Given the description of an element on the screen output the (x, y) to click on. 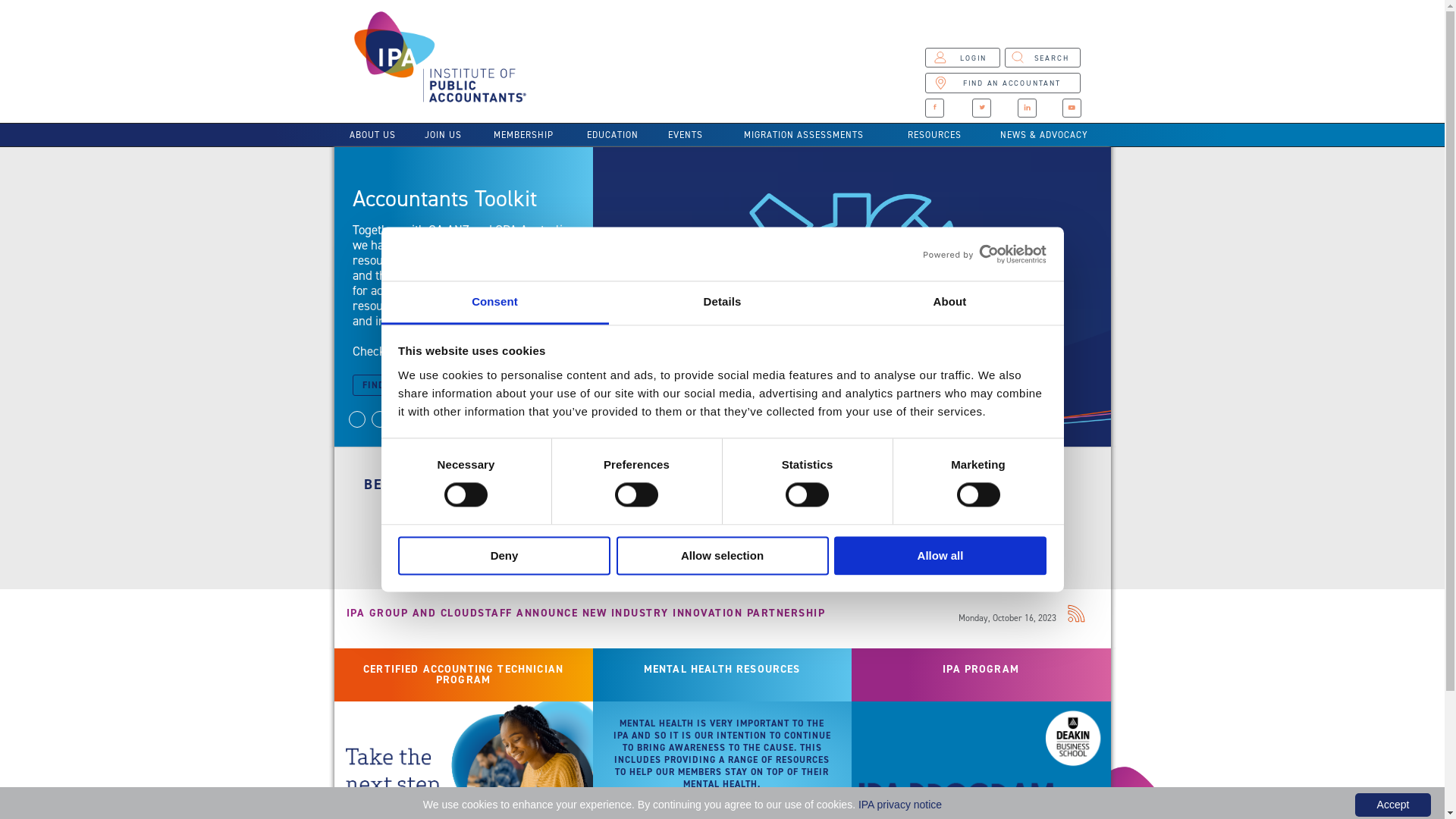
APPLY NOW Element type: text (431, 534)
MIGRATION ASSESSMENTS Element type: text (803, 134)
NEWS & ADVOCACY Element type: text (1044, 134)
JOIN US Element type: text (443, 134)
LINKDIN Element type: text (1026, 107)
ICON CREATED WITH SKETCH. Element type: text (981, 107)
Deny Element type: text (504, 555)
EDUCATION Element type: text (613, 134)
FACEBOOK ICON CREATED WITH SKETCH. Element type: text (934, 107)
Details Element type: text (721, 302)
ICON : USER COPYCREATED WITH SKETCH.
LOGIN Element type: text (962, 57)
ABOUT US Element type: text (371, 134)
APPLY
NOW Element type: text (819, 534)
IPA privacy notice Element type: text (899, 804)
Allow selection Element type: text (721, 555)
EVENTS Element type: text (684, 134)
SEARCH
NOW Element type: text (625, 534)
WATCH NOW Element type: text (397, 348)
Consent Element type: text (494, 302)
RESOURCES Element type: text (934, 134)
FIND OUT MORE Element type: text (404, 384)
ICON : SEARCH CREATED WITH SKETCH.
SEARCH Element type: text (1042, 57)
MEMBERSHIP Element type: text (522, 134)
About Element type: text (949, 302)
APPLY
NOW Element type: text (1013, 534)
Allow all Element type: text (940, 555)
YOUTUBE CREATED WITH SKETCH. Element type: text (1071, 107)
